Given the description of an element on the screen output the (x, y) to click on. 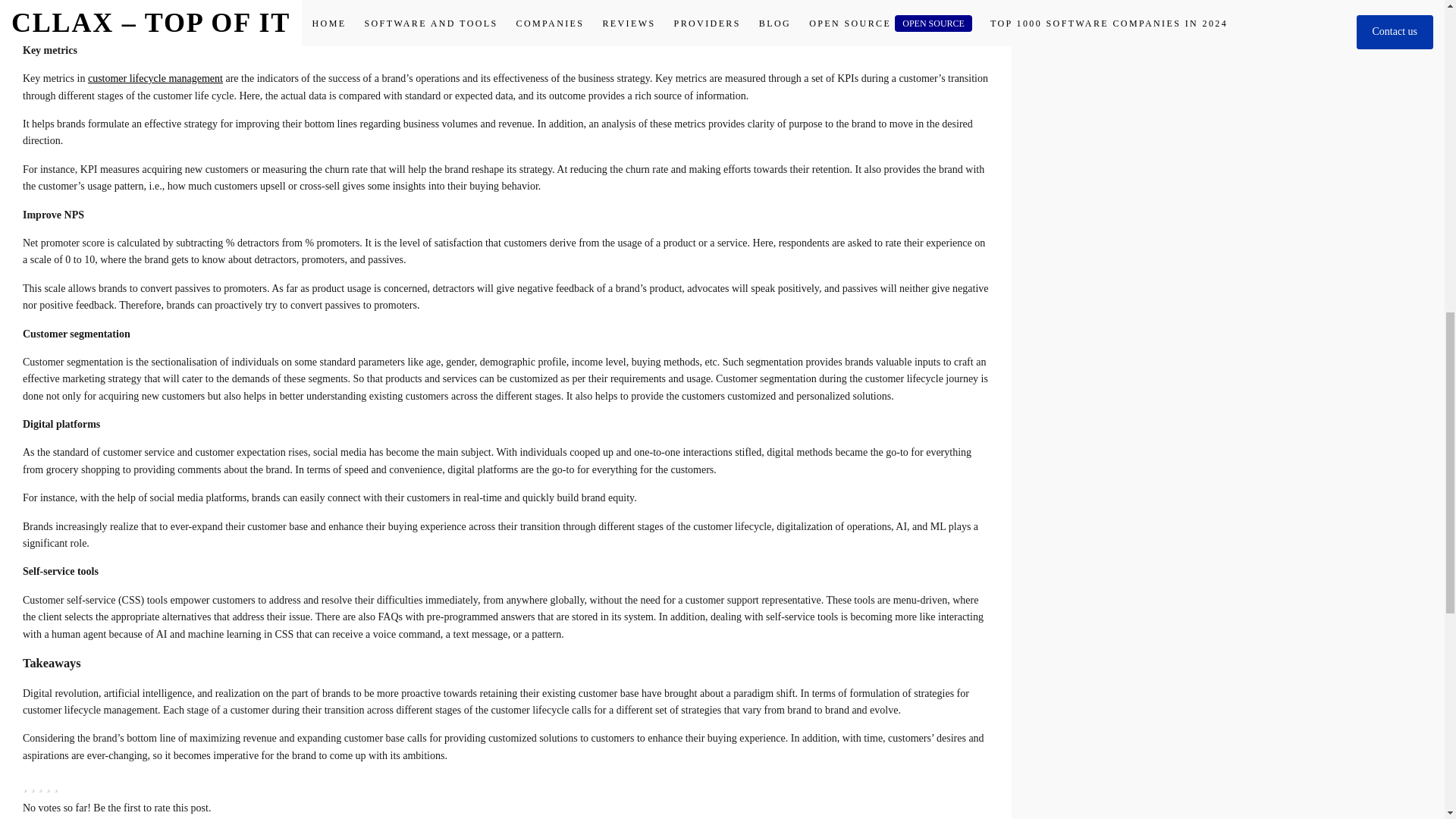
customer lifecycle management (154, 78)
